Given the description of an element on the screen output the (x, y) to click on. 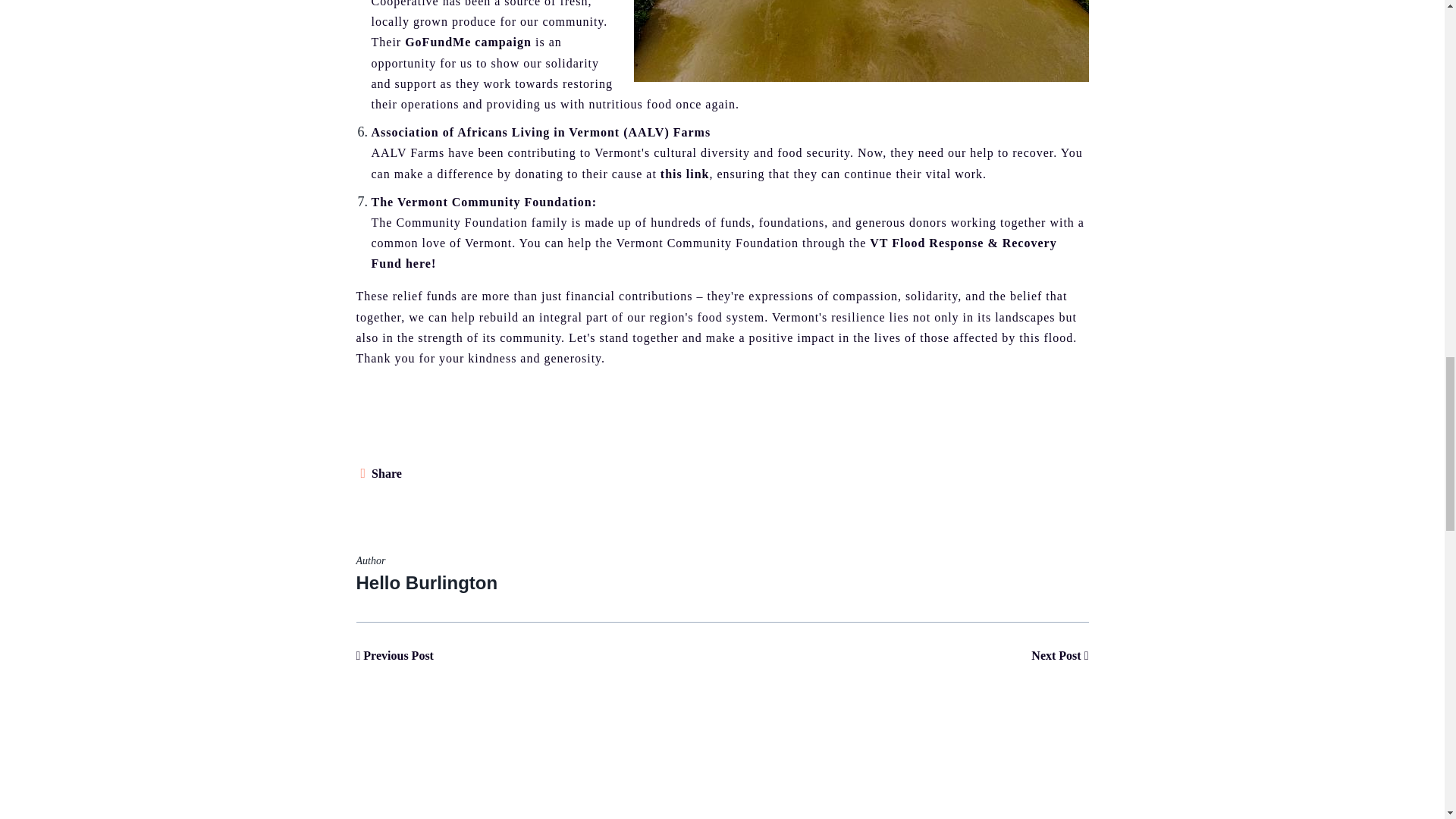
SOUTH HERO FERMENTOLOGY: TWO HEROES BREWERY (394, 656)
ROMANACE IN THE QUEEN CITY (1058, 656)
